Given the description of an element on the screen output the (x, y) to click on. 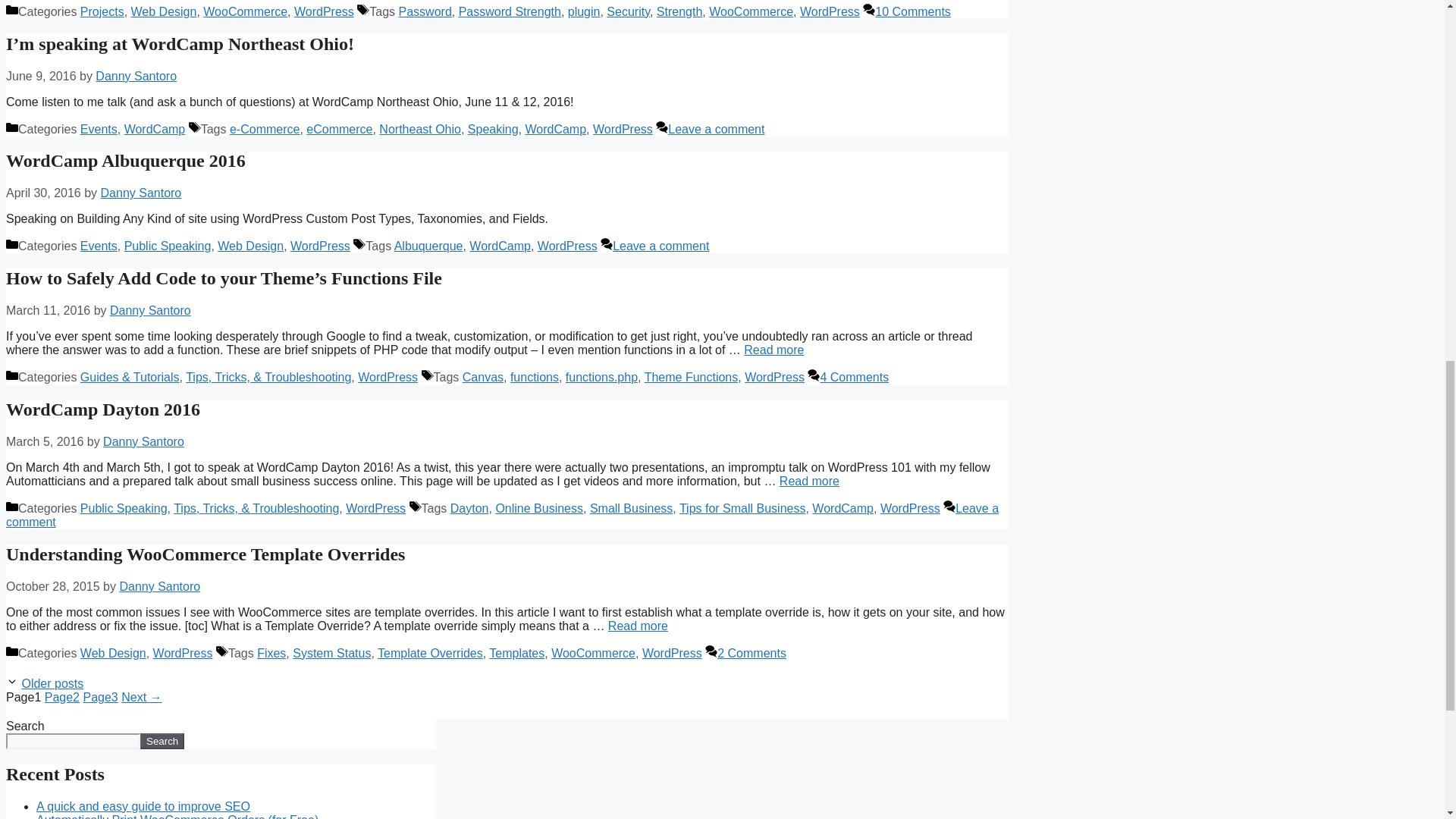
Previous (51, 683)
View all posts by Danny Santoro (136, 75)
View all posts by Danny Santoro (141, 192)
View all posts by Danny Santoro (143, 440)
Scroll back to top (1406, 720)
View all posts by Danny Santoro (150, 309)
Understanding WooCommerce Template Overrides (638, 625)
WordCamp Dayton 2016 (809, 481)
View all posts by Danny Santoro (159, 585)
